Given the description of an element on the screen output the (x, y) to click on. 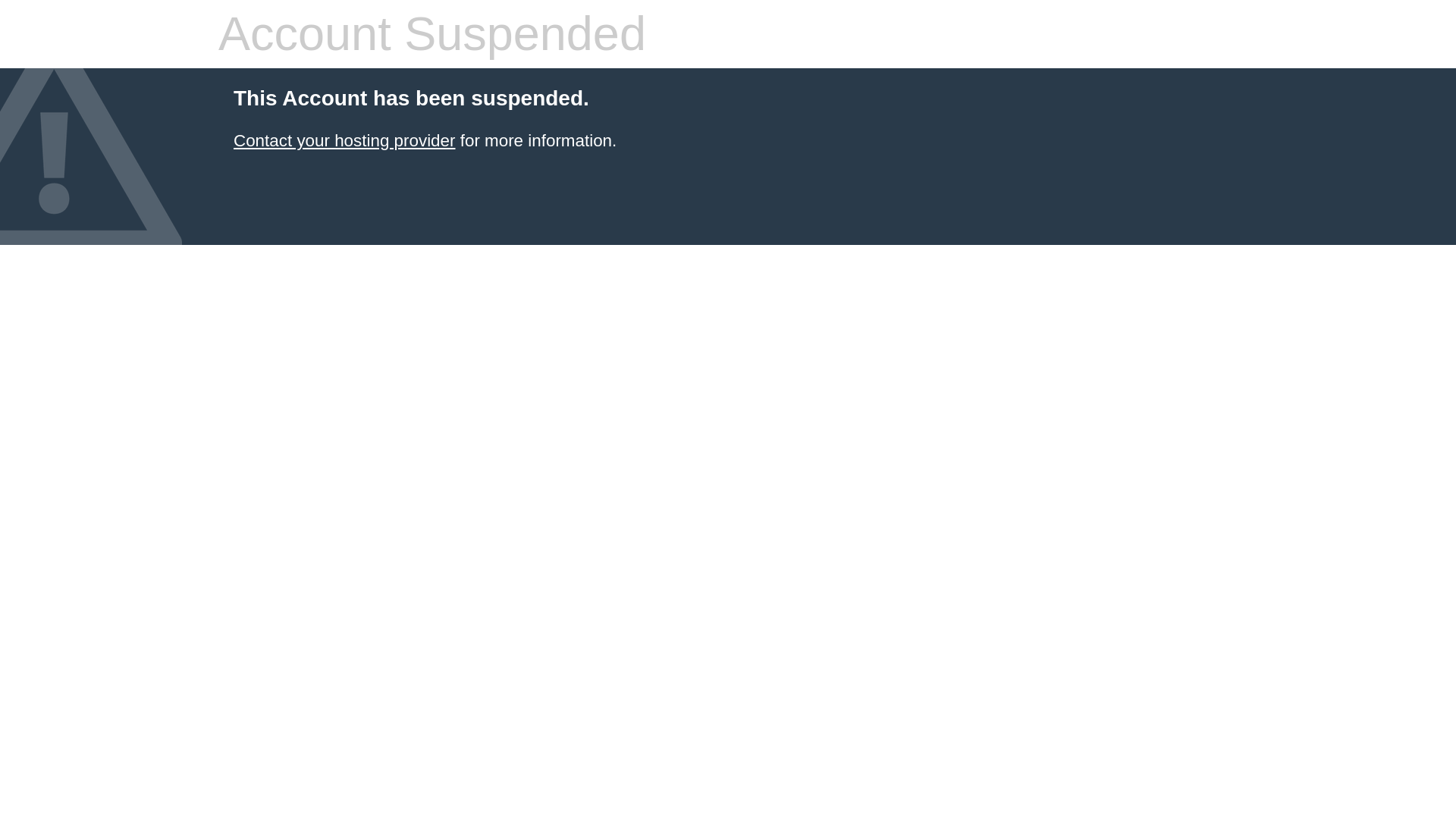
Contact your hosting provider (343, 140)
